Given the description of an element on the screen output the (x, y) to click on. 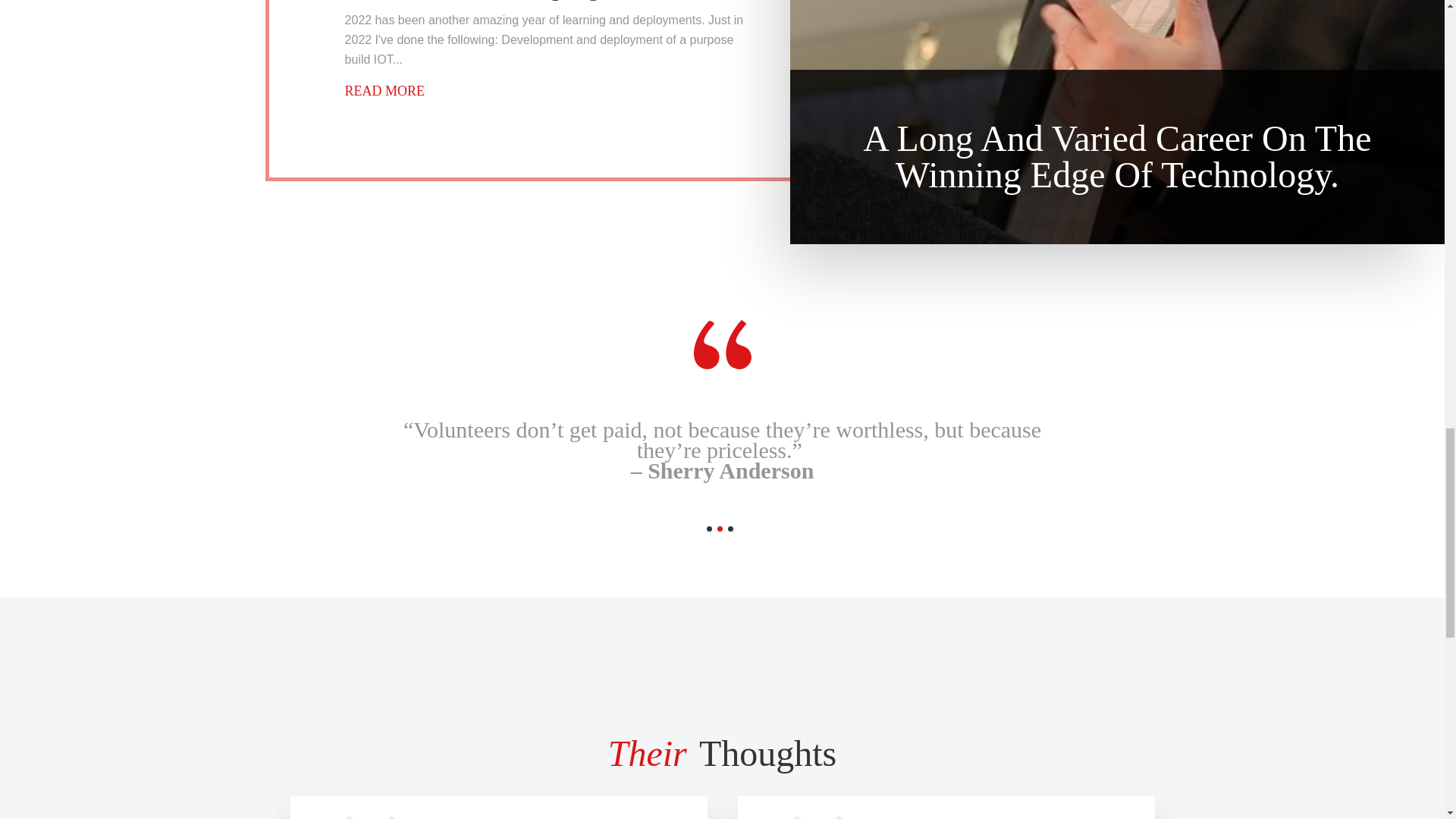
READ MORE (385, 90)
